Given the description of an element on the screen output the (x, y) to click on. 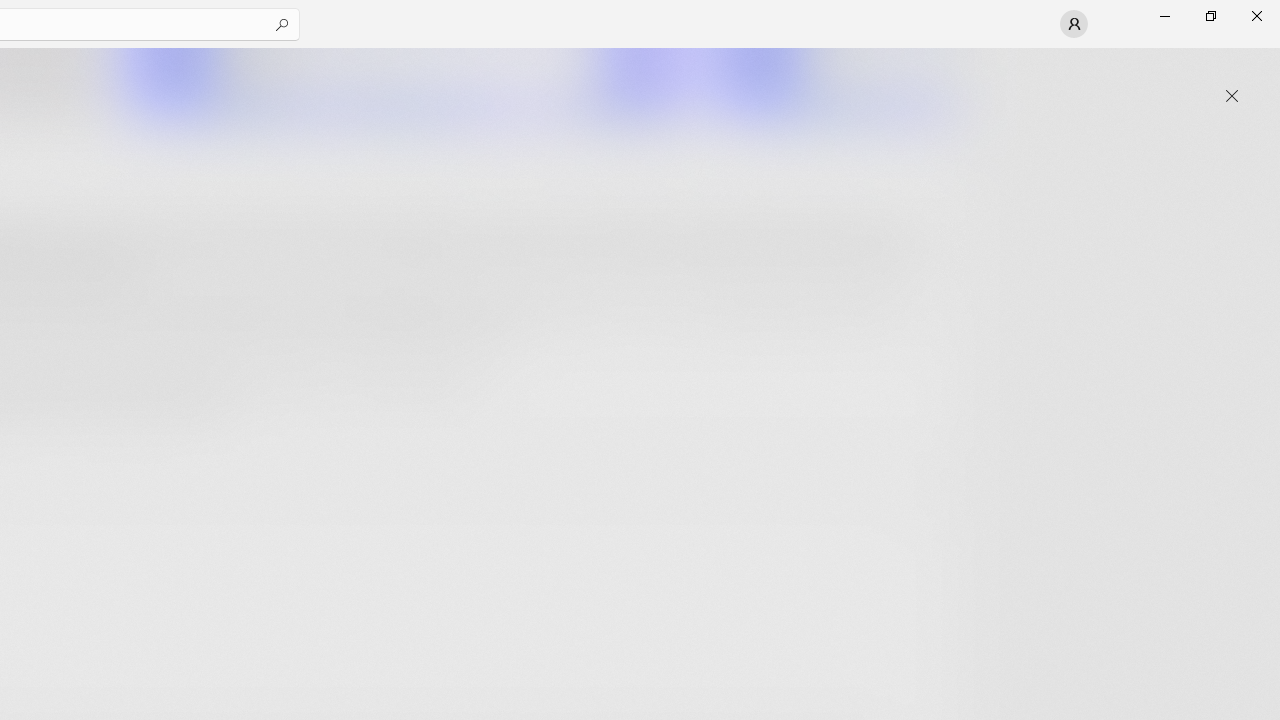
Close Microsoft Store (1256, 15)
Screenshot 3 (833, 81)
Minimize Microsoft Store (1164, 15)
User profile (1073, 24)
Screenshot 2 (406, 81)
close popup window (1232, 95)
Show all ratings and reviews (924, 495)
Restore Microsoft Store (1210, 15)
